Given the description of an element on the screen output the (x, y) to click on. 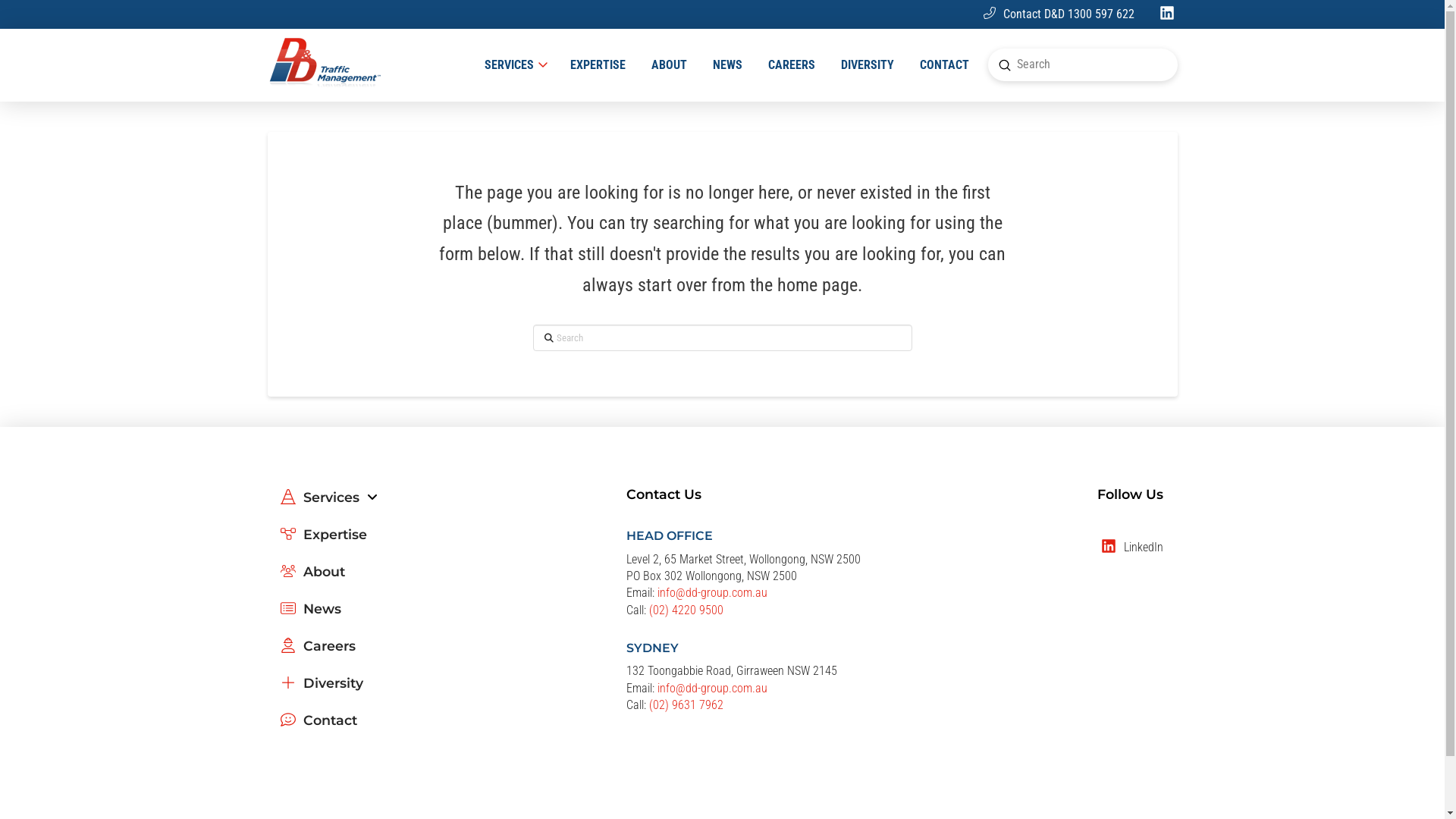
Expertise Element type: text (322, 540)
(02) 4220 9500 Element type: text (686, 609)
Careers Element type: text (316, 652)
EXPERTISE Element type: text (596, 64)
SERVICES Element type: text (514, 64)
Services Element type: text (327, 503)
Diversity Element type: text (320, 689)
About Element type: text (311, 577)
Submit Element type: text (1004, 65)
Contact Element type: text (317, 726)
DIVERSITY Element type: text (867, 64)
info@dd-group.com.au Element type: text (712, 687)
(02) 9631 7962 Element type: text (686, 704)
NEWS Element type: text (726, 64)
CONTACT Element type: text (944, 64)
LinkedIn Element type: text (1137, 546)
News Element type: text (309, 614)
CAREERS Element type: text (791, 64)
info@dd-group.com.au Element type: text (712, 592)
ABOUT Element type: text (668, 64)
